Given the description of an element on the screen output the (x, y) to click on. 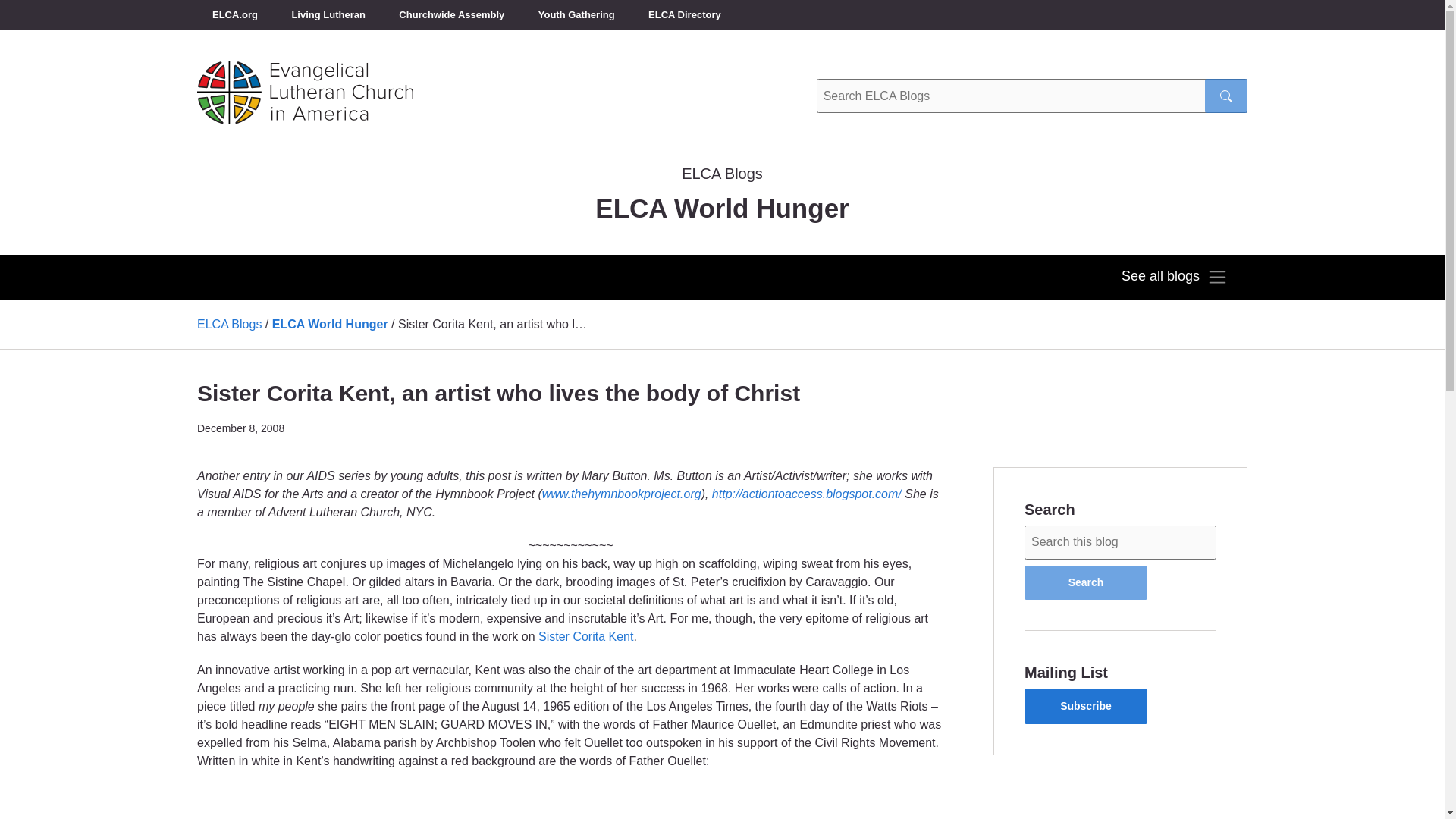
Search (1086, 582)
Subscribe (1086, 705)
Youth Gathering (576, 15)
ELCA Directory (684, 15)
See all blogs (1174, 277)
Sister Corita Kent (585, 635)
Search (1086, 582)
Search submit (1226, 95)
Churchwide Assembly (451, 15)
ELCA.org (234, 15)
